Given the description of an element on the screen output the (x, y) to click on. 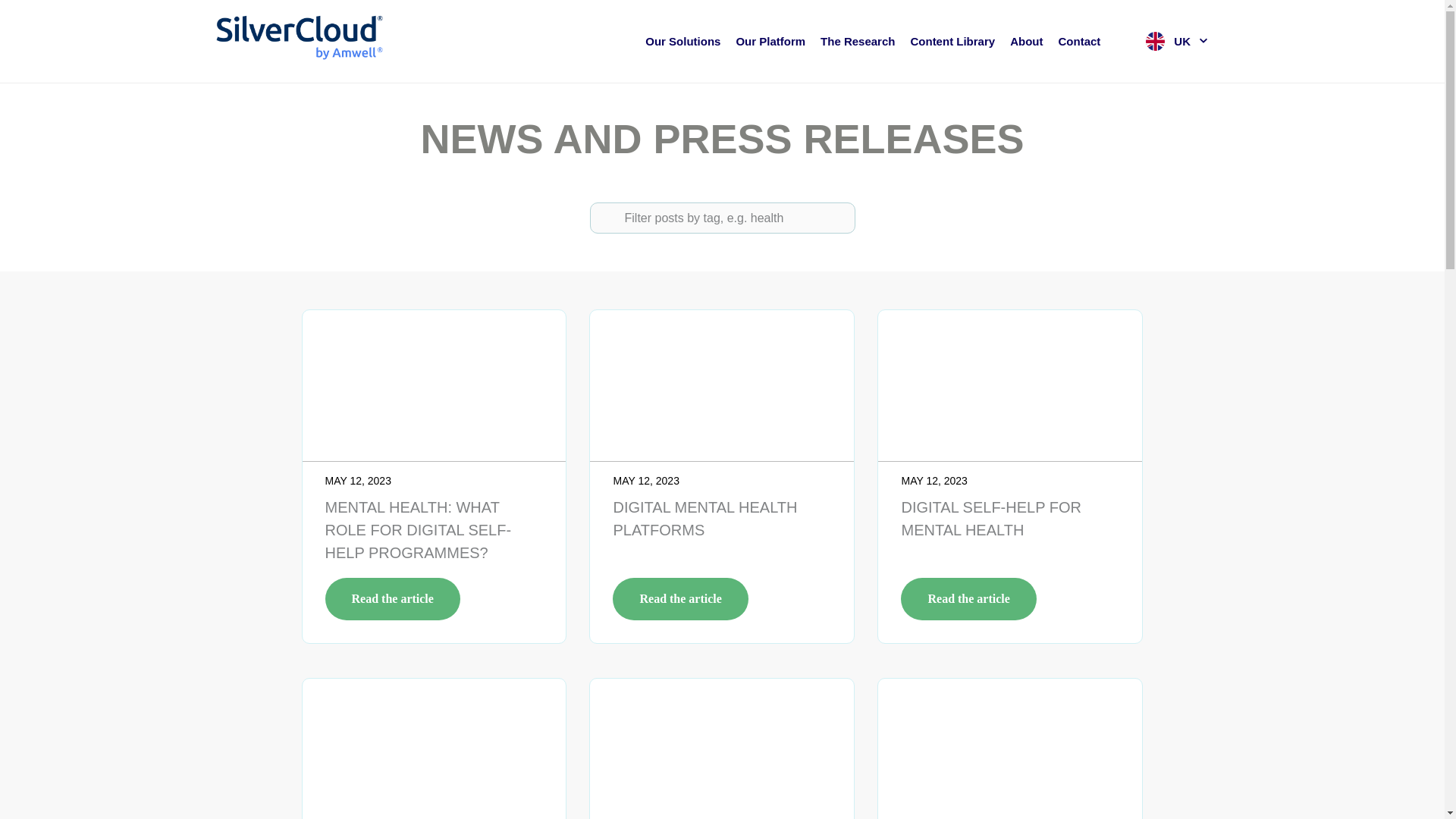
Contact (1079, 41)
The Research (858, 41)
Our Solutions (682, 41)
Our Platform (770, 41)
Content Library (952, 41)
